Given the description of an element on the screen output the (x, y) to click on. 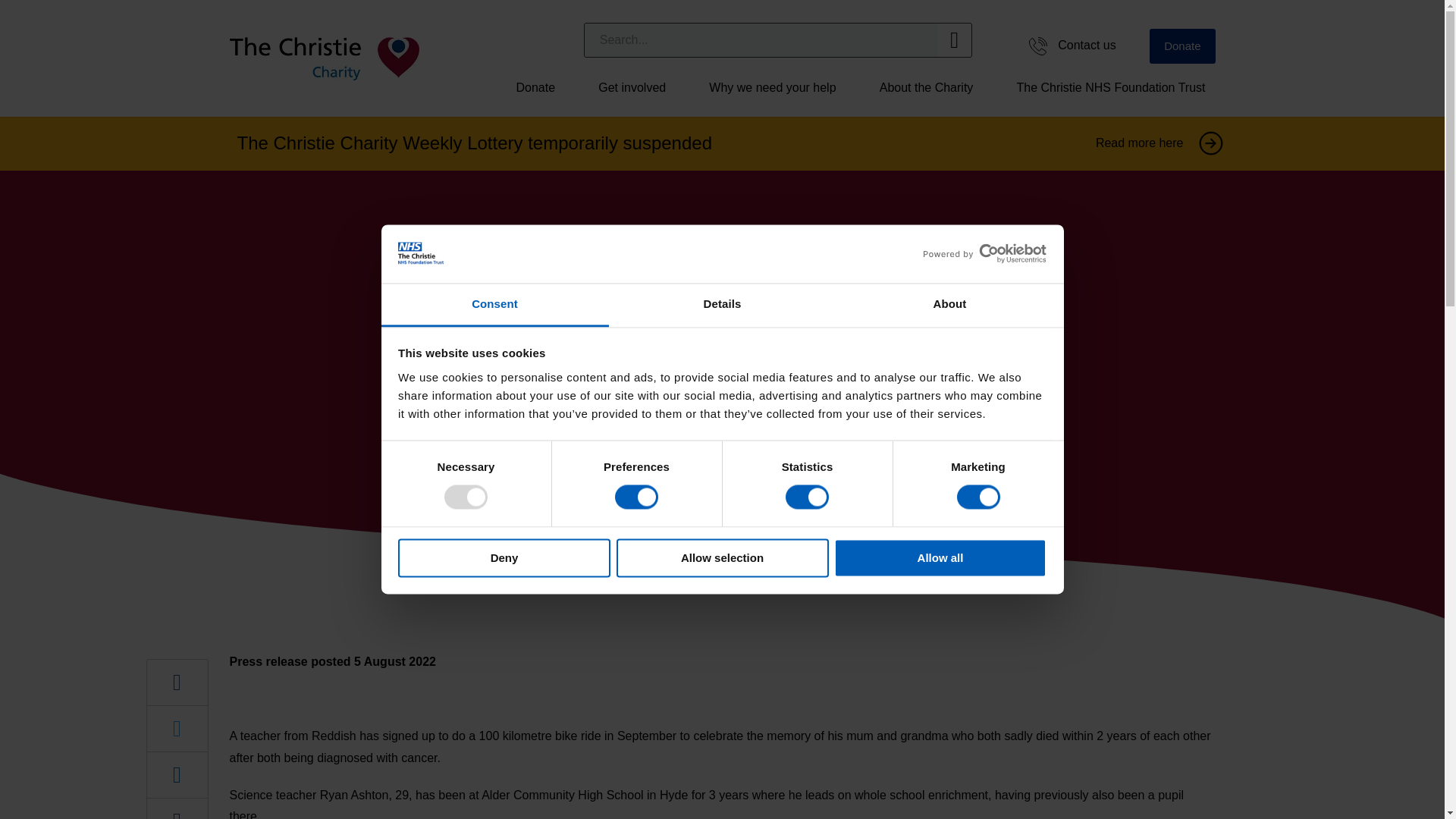
Consent (494, 304)
About (948, 304)
Deny (503, 557)
Allow selection (721, 557)
Details (721, 304)
Search (761, 39)
